Given the description of an element on the screen output the (x, y) to click on. 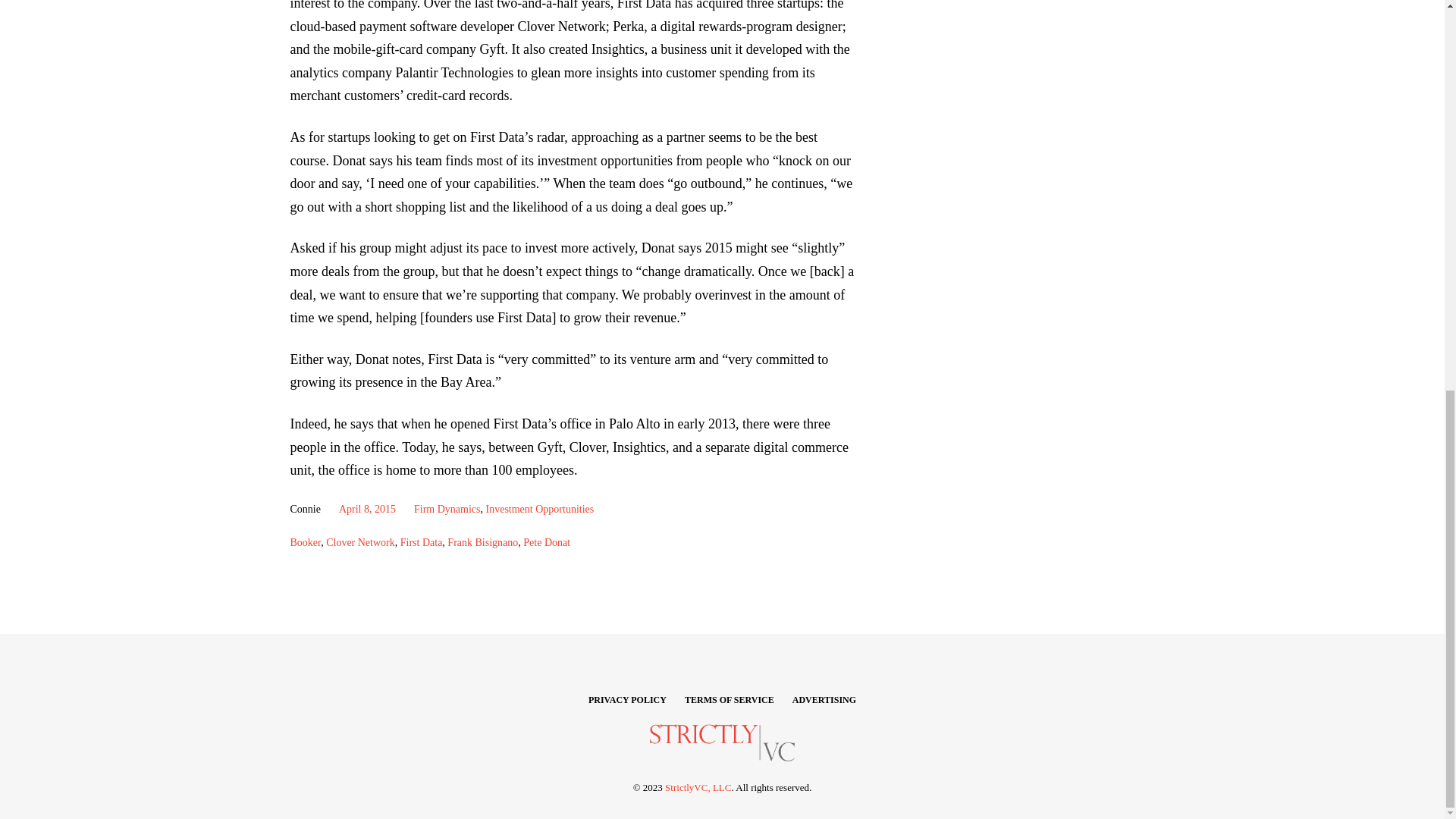
Booker (304, 542)
Firm Dynamics (446, 509)
Investment Opportunities (540, 509)
Frank Bisignano (482, 542)
Clover Network (360, 542)
April 8, 2015 (367, 509)
ADVERTISING (824, 699)
Pete Donat (546, 542)
StrictlyVC, LLC (697, 787)
First Data (421, 542)
PRIVACY POLICY (627, 699)
TERMS OF SERVICE (729, 699)
